Given the description of an element on the screen output the (x, y) to click on. 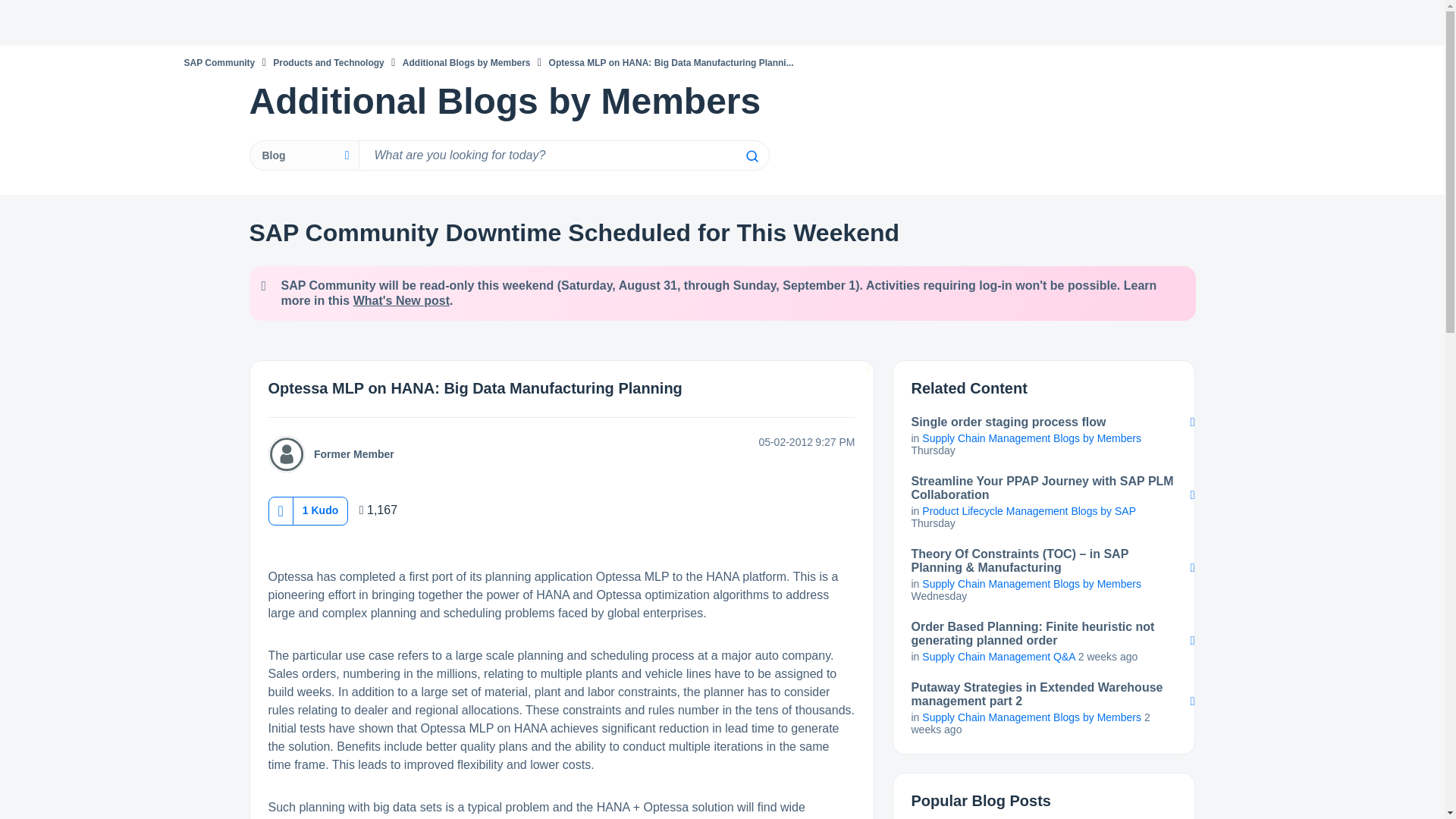
Putaway Strategies in Extended Warehouse management part 2 (1043, 694)
Single order staging process flow (1043, 422)
Additional Blogs by Members (467, 62)
Search (563, 155)
Click here to give kudos to this post. (279, 510)
Click here to see who gave kudos to this post. (320, 510)
Search (750, 155)
Supply Chain Management Blogs by Members (1031, 438)
Streamline Your PPAP Journey with SAP PLM Collaboration (1043, 488)
Search (750, 155)
